Given the description of an element on the screen output the (x, y) to click on. 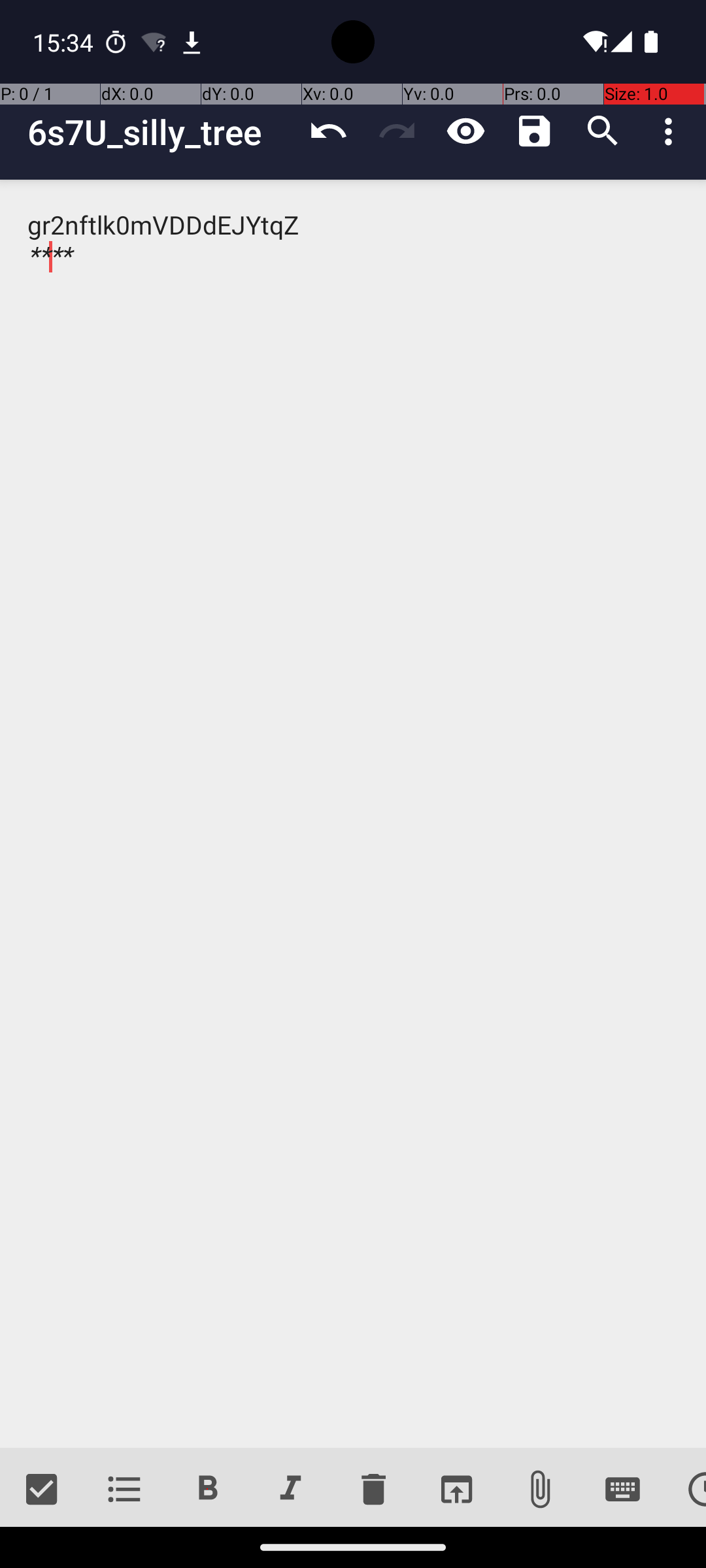
6s7U_silly_tree Element type: android.widget.TextView (160, 131)
gr2nftlk0mVDDdEJYtqZ
**** Element type: android.widget.EditText (353, 813)
